Given the description of an element on the screen output the (x, y) to click on. 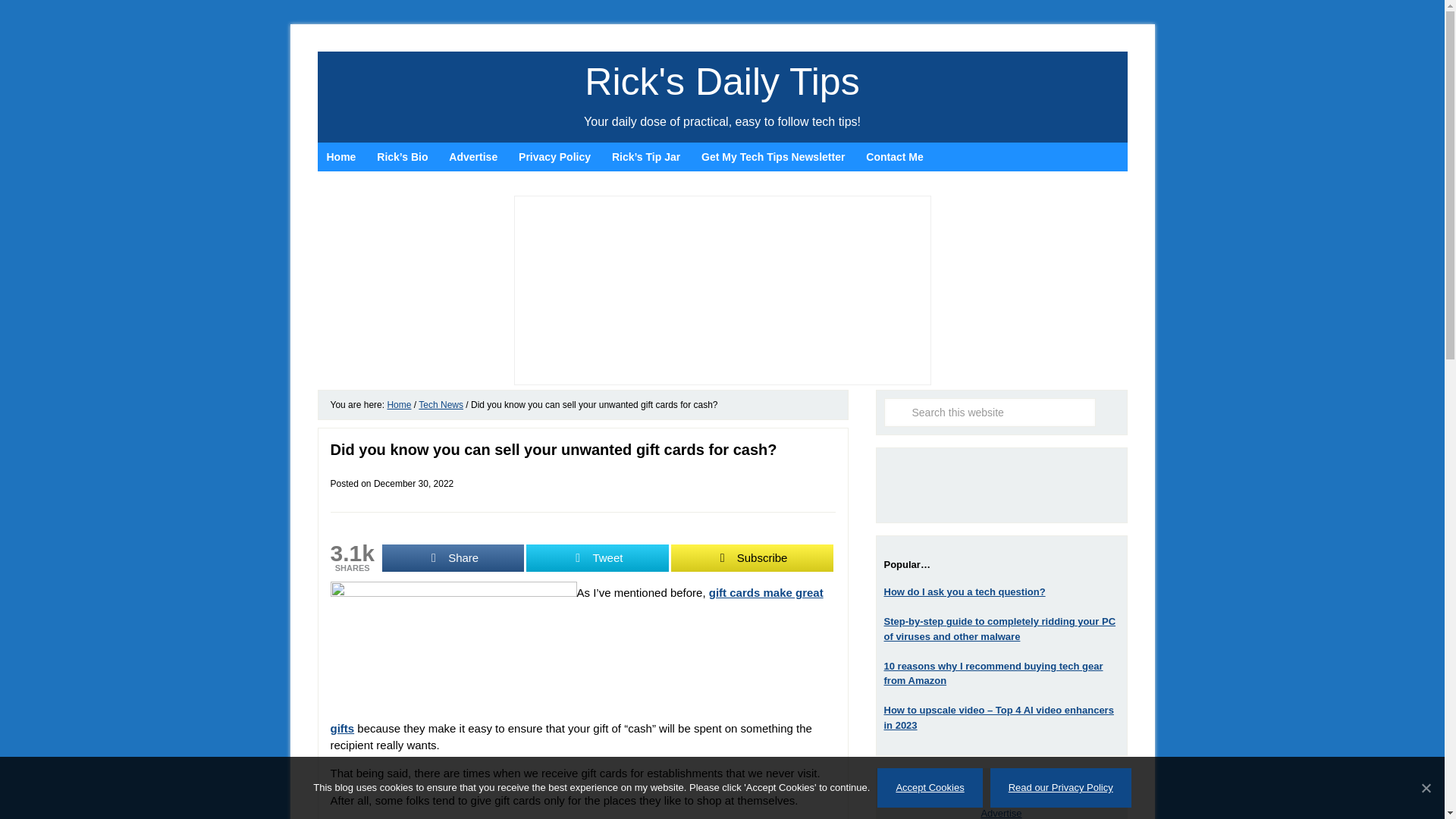
Tech News (441, 404)
Advertise (472, 156)
Refuse Cookies (1425, 787)
10 reasons why I recommend buying tech gear from Amazon (993, 673)
Tweet (596, 557)
Rick's Daily Tips (722, 81)
Get My Tech Tips Newsletter (773, 156)
Privacy Policy (554, 156)
